Given the description of an element on the screen output the (x, y) to click on. 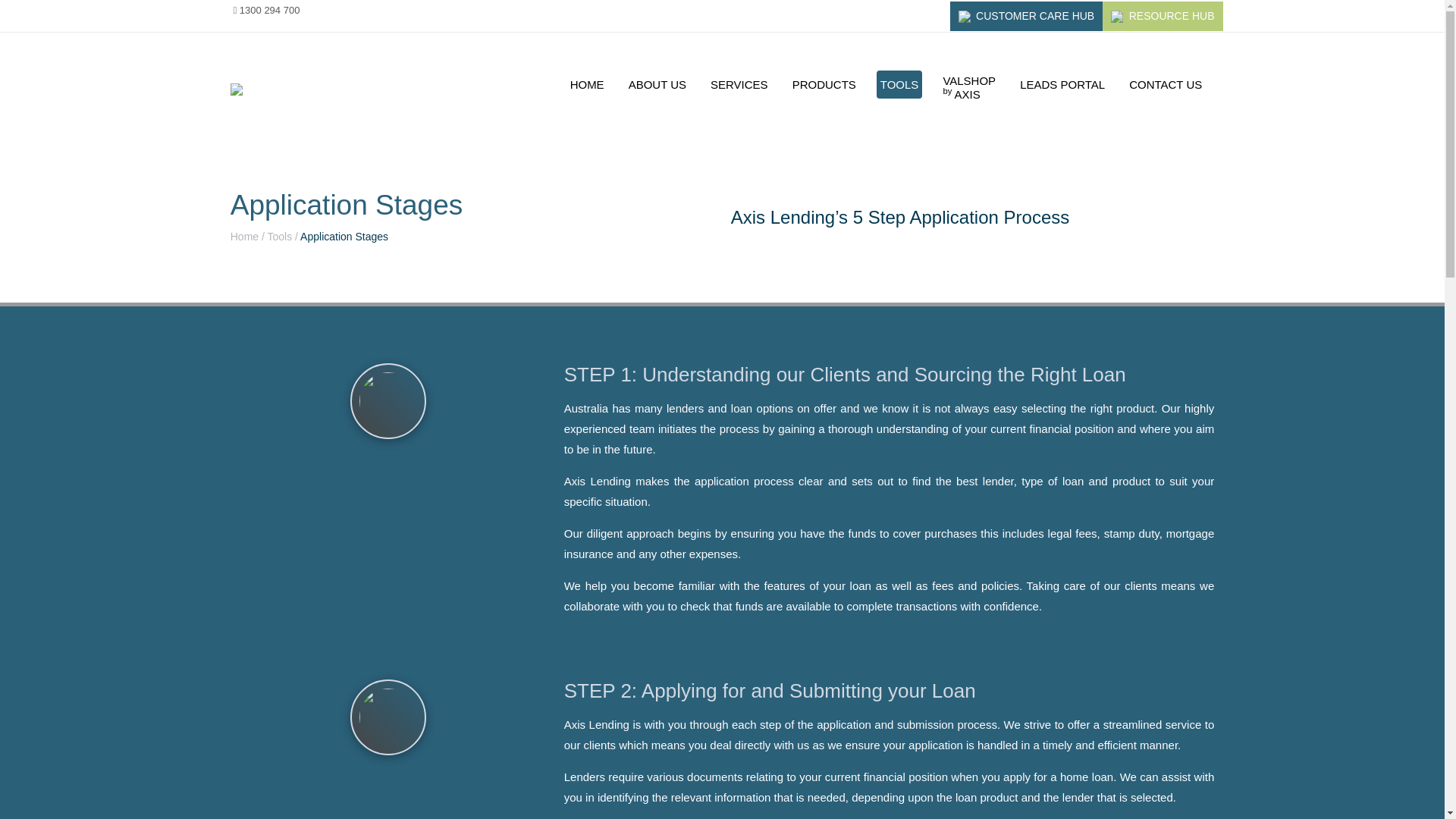
RESOURCE HUB (1162, 16)
CUSTOMER CARE HUB (1026, 16)
CONTACT US (1165, 84)
LEADS PORTAL (968, 87)
HOME (1062, 84)
PRODUCTS (587, 84)
SERVICES (824, 84)
ABOUT US (738, 84)
TOOLS (657, 84)
